Given the description of an element on the screen output the (x, y) to click on. 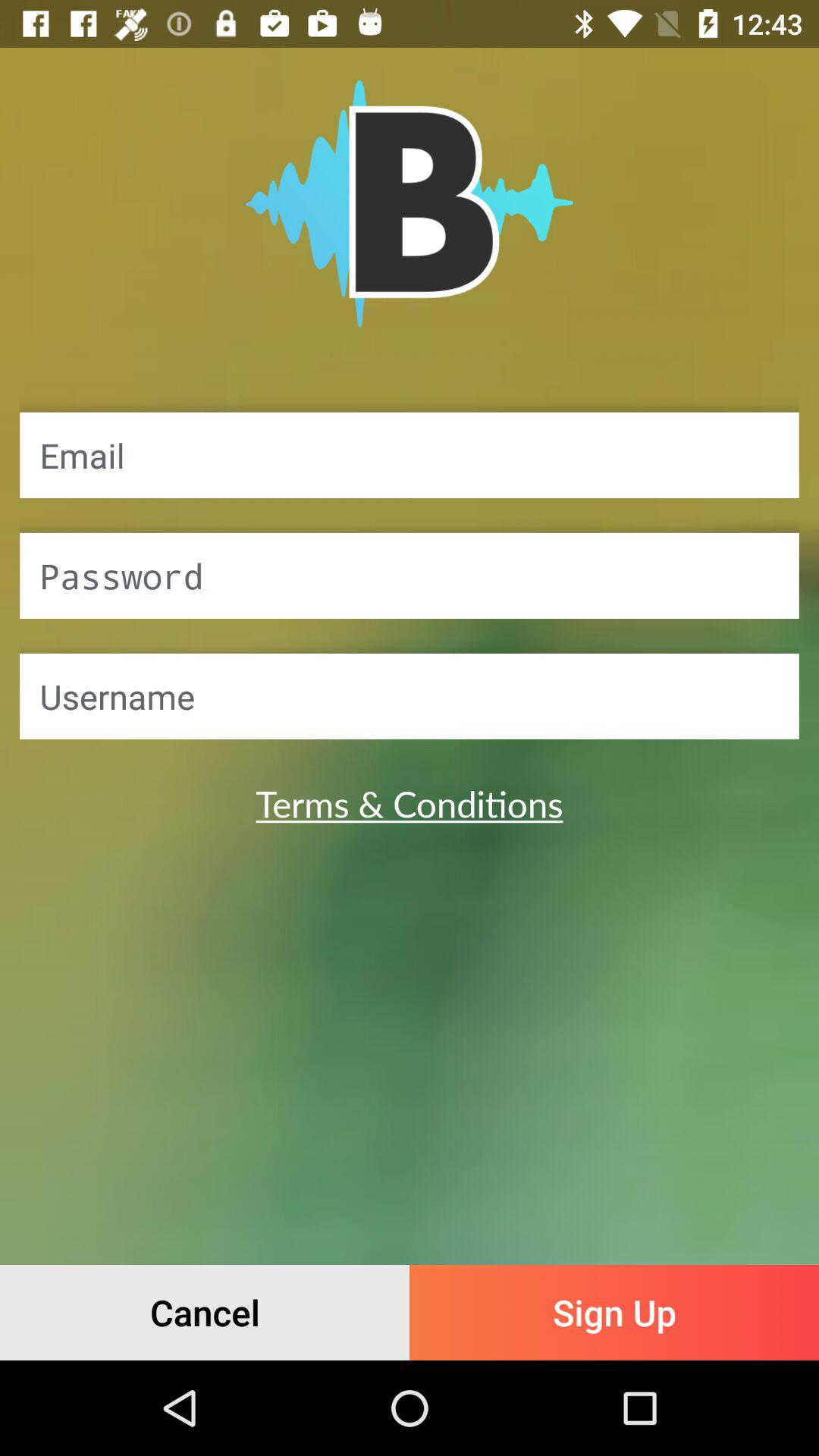
turn off sign up at the bottom right corner (614, 1312)
